Given the description of an element on the screen output the (x, y) to click on. 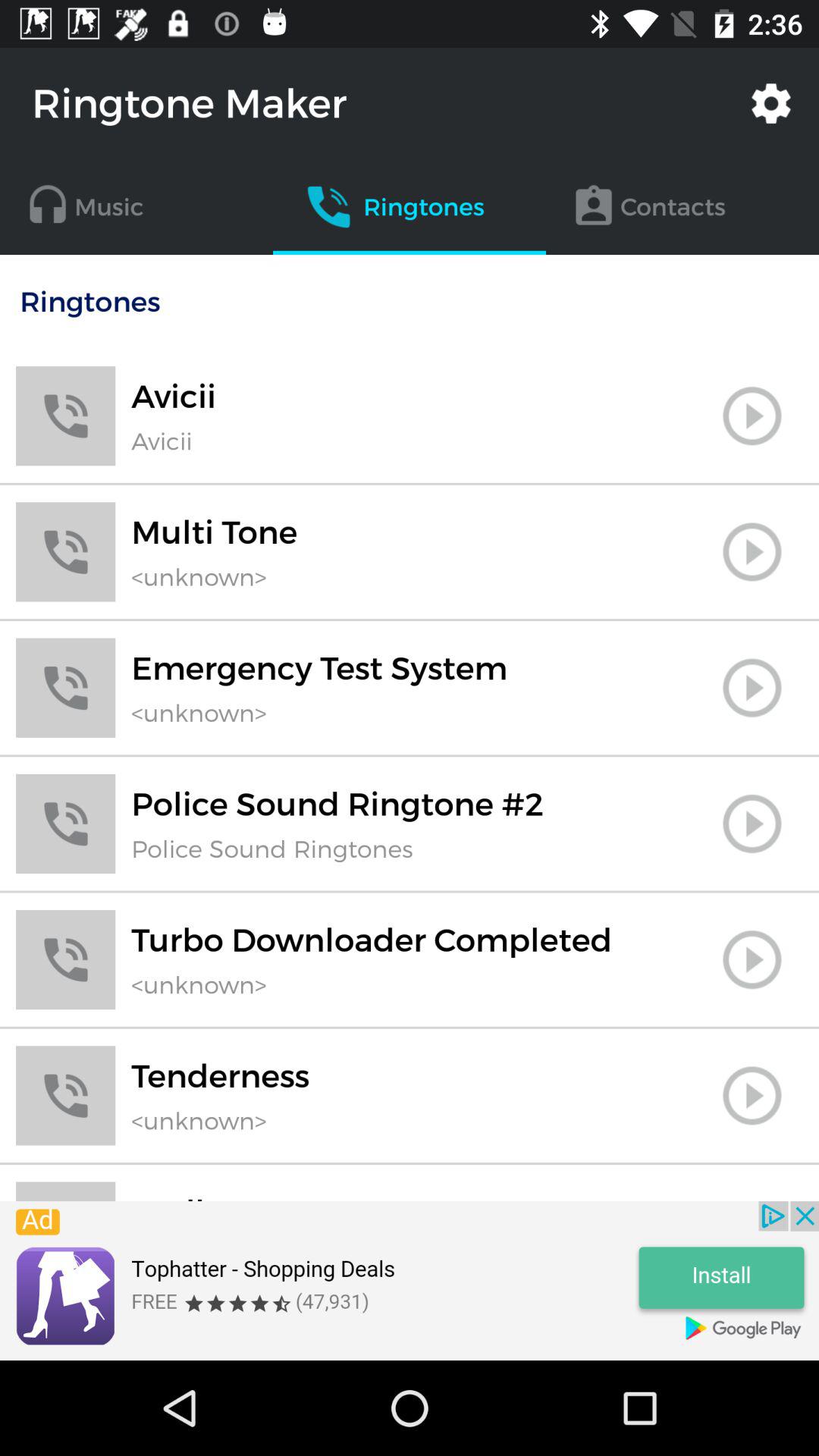
play button (752, 959)
